Given the description of an element on the screen output the (x, y) to click on. 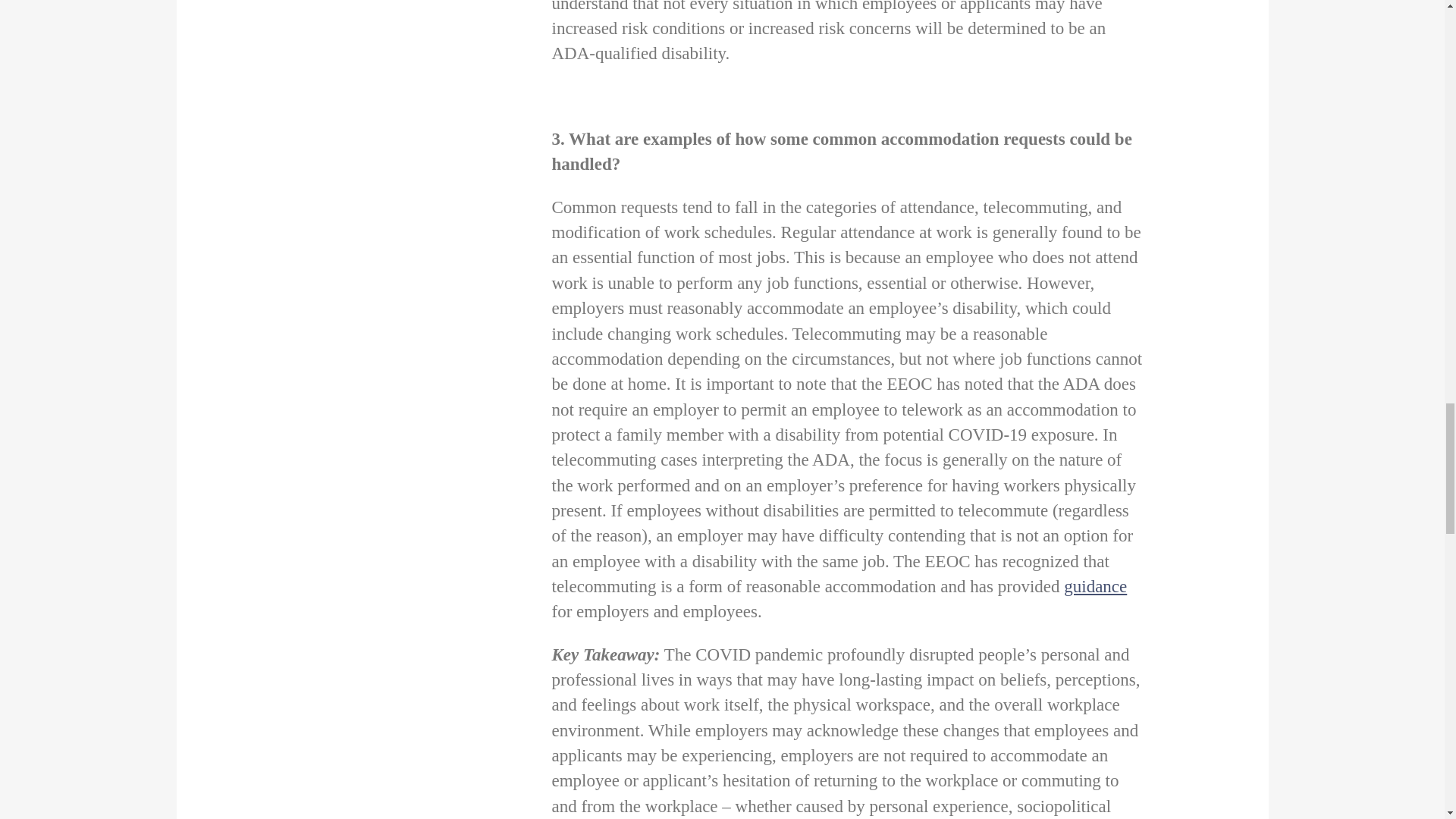
guidance (1095, 586)
